Given the description of an element on the screen output the (x, y) to click on. 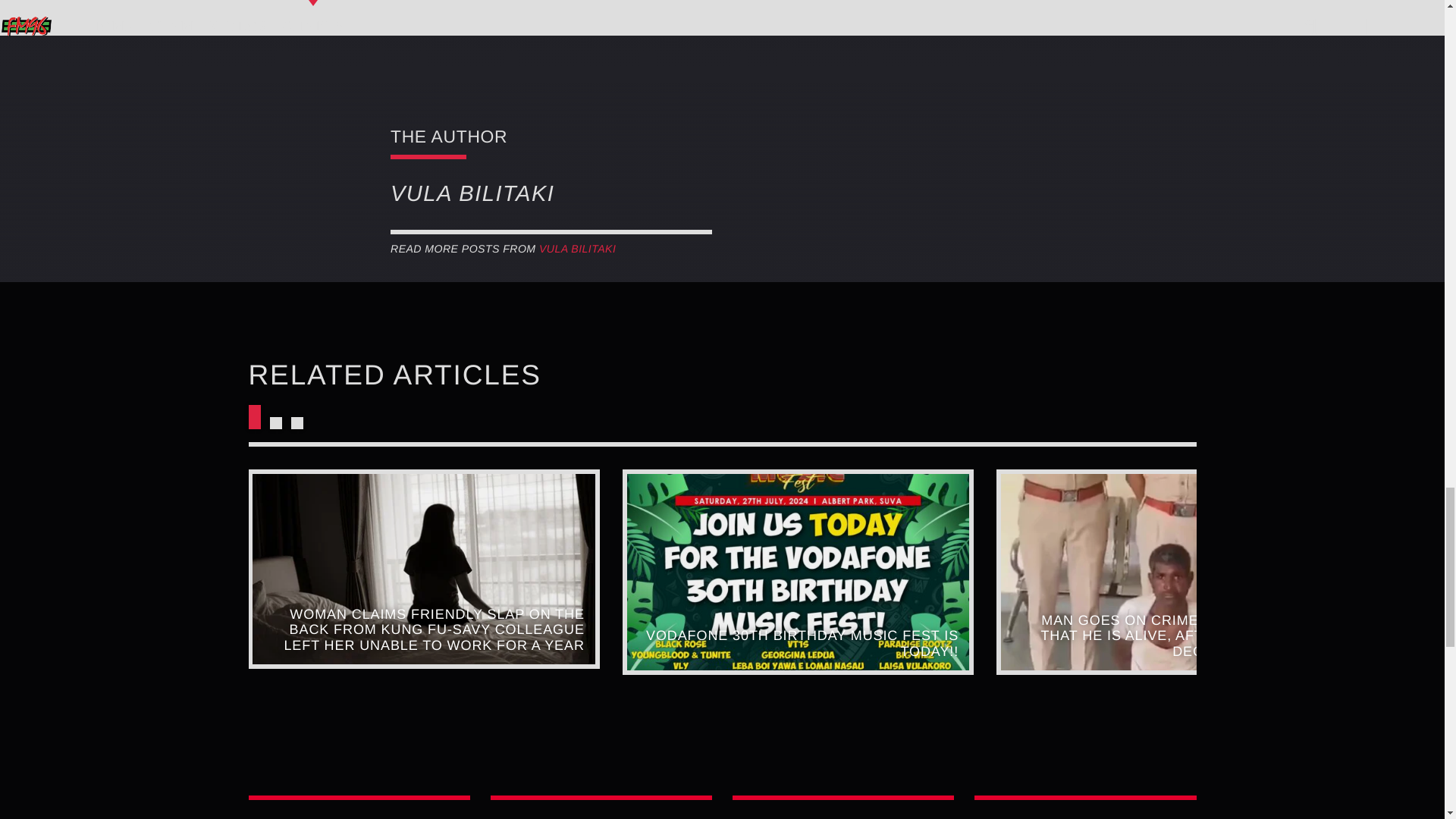
VULA BILITAKI (576, 248)
Posts by Vula Bilitaki (576, 248)
